Given the description of an element on the screen output the (x, y) to click on. 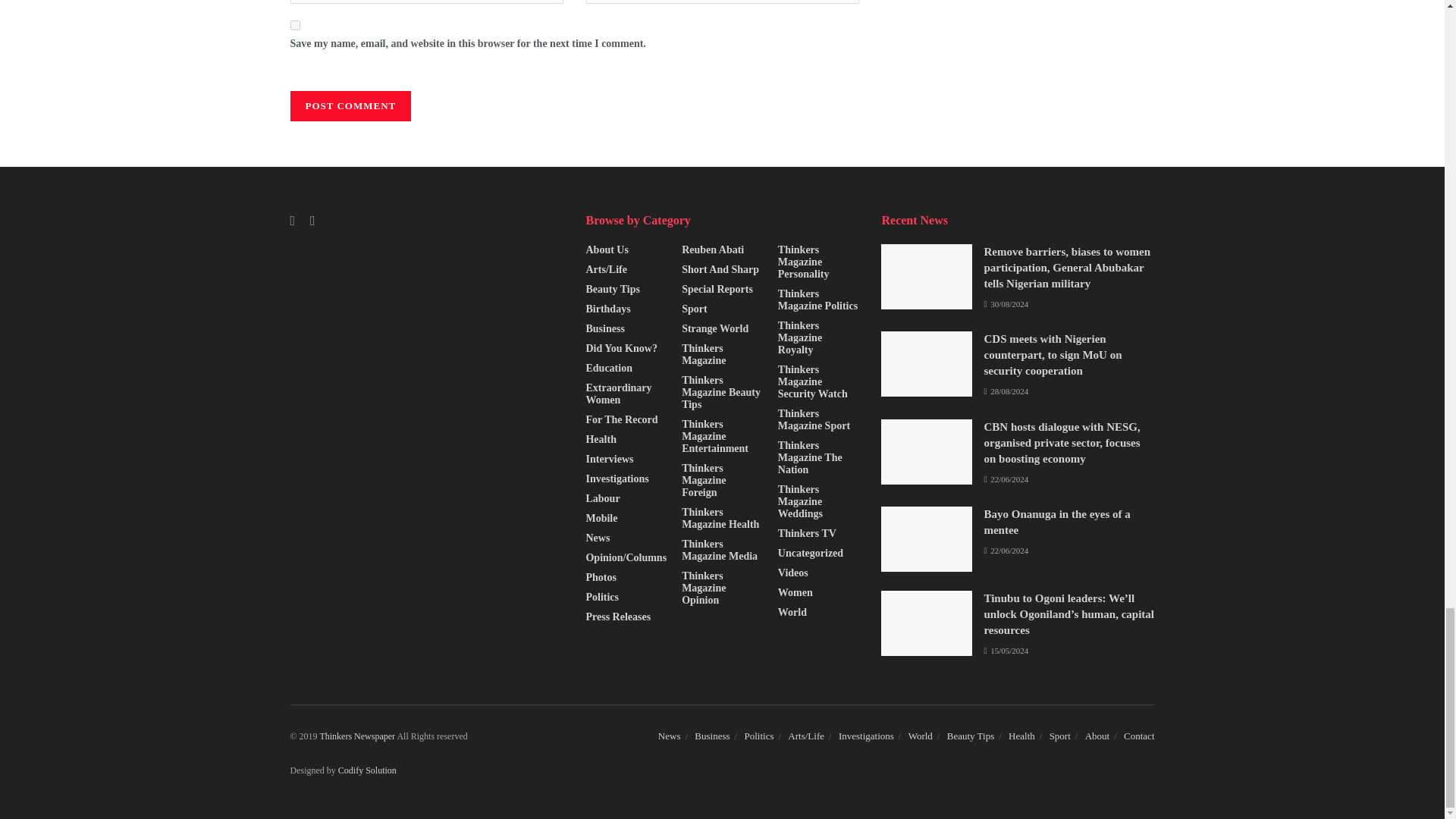
Top News Site (357, 736)
Post Comment (349, 105)
yes (294, 25)
